Given the description of an element on the screen output the (x, y) to click on. 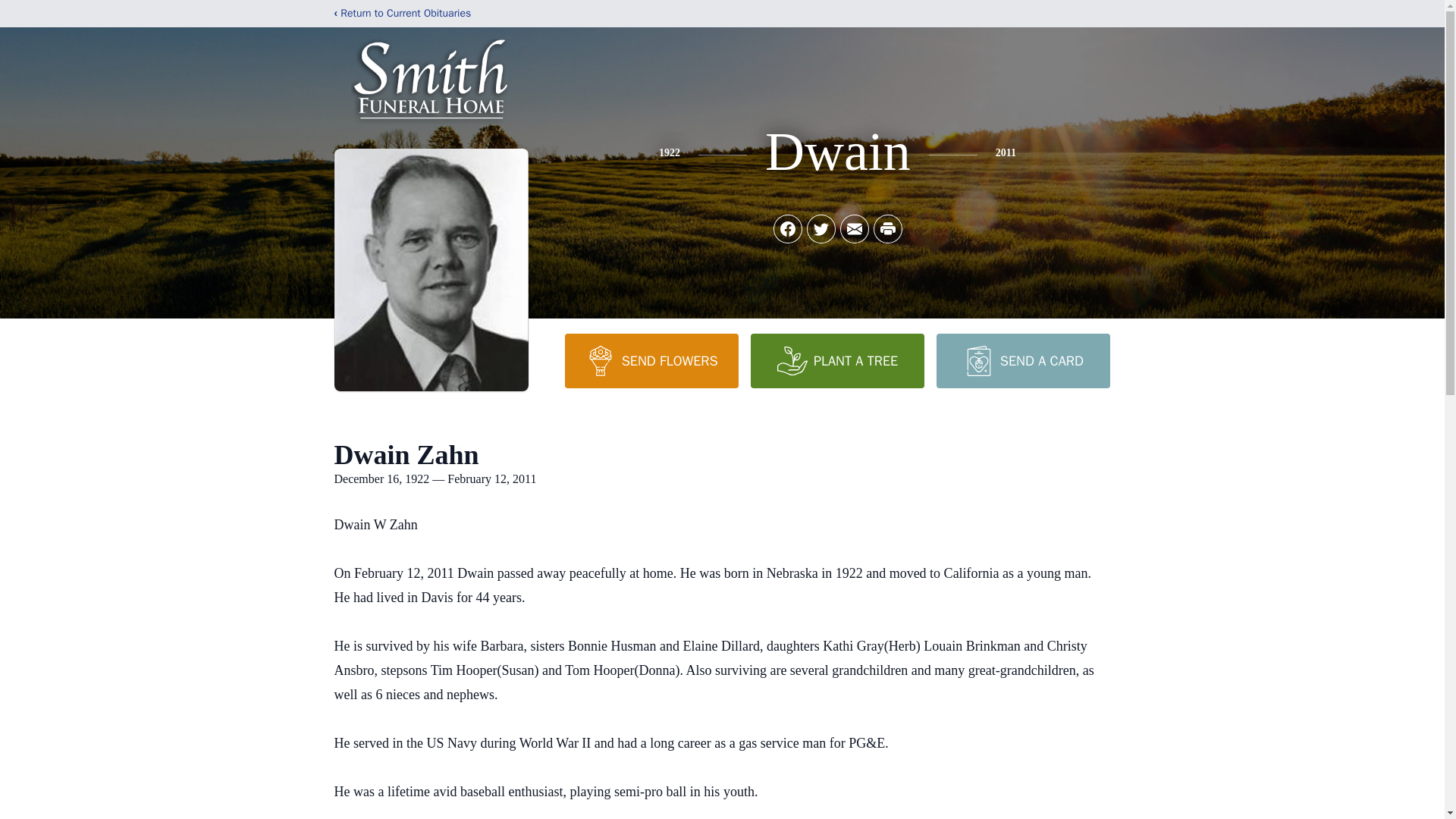
PLANT A TREE (837, 360)
SEND FLOWERS (651, 360)
SEND A CARD (1022, 360)
